Given the description of an element on the screen output the (x, y) to click on. 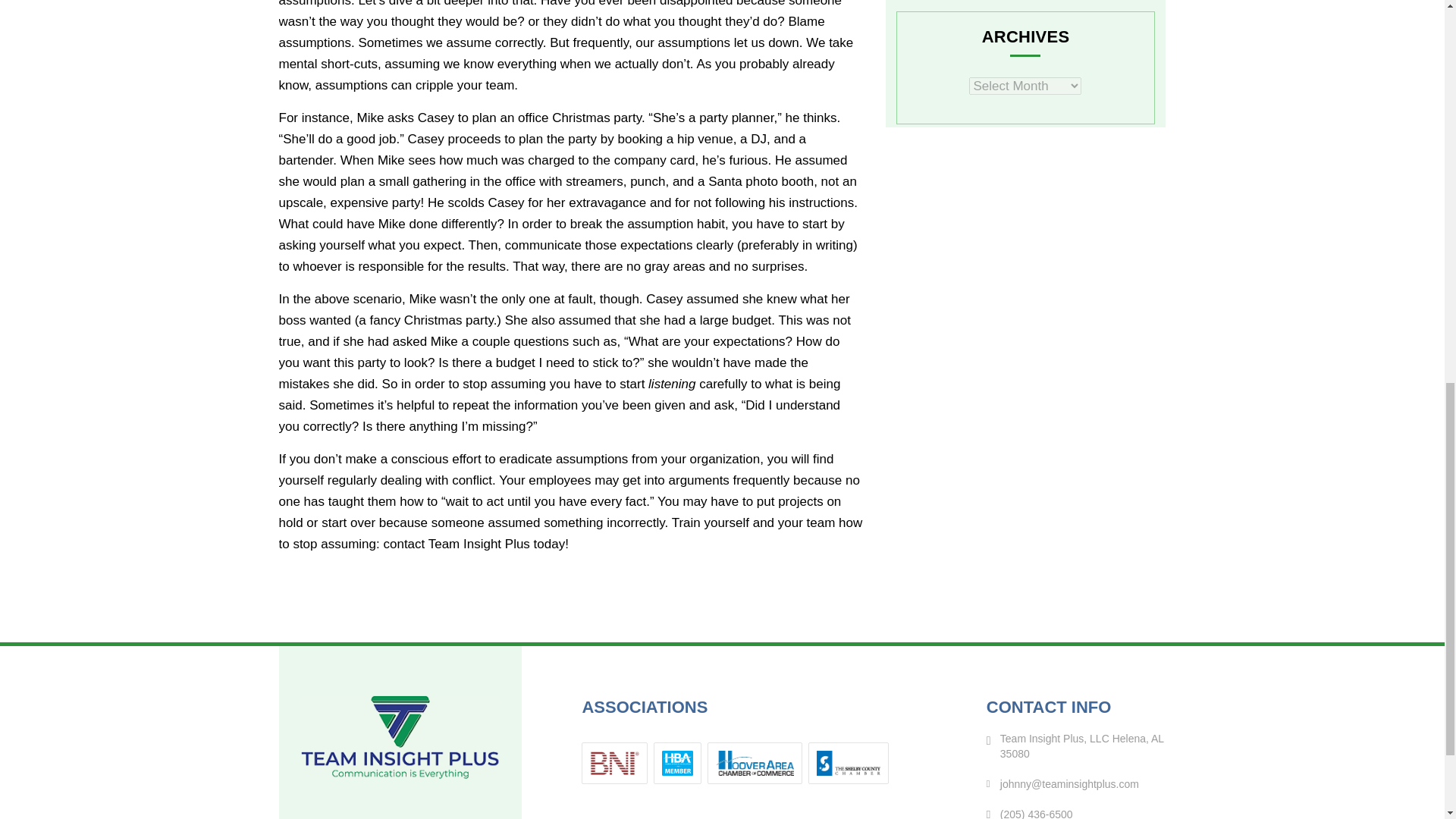
Teaminsight (399, 735)
contact (403, 544)
